Given the description of an element on the screen output the (x, y) to click on. 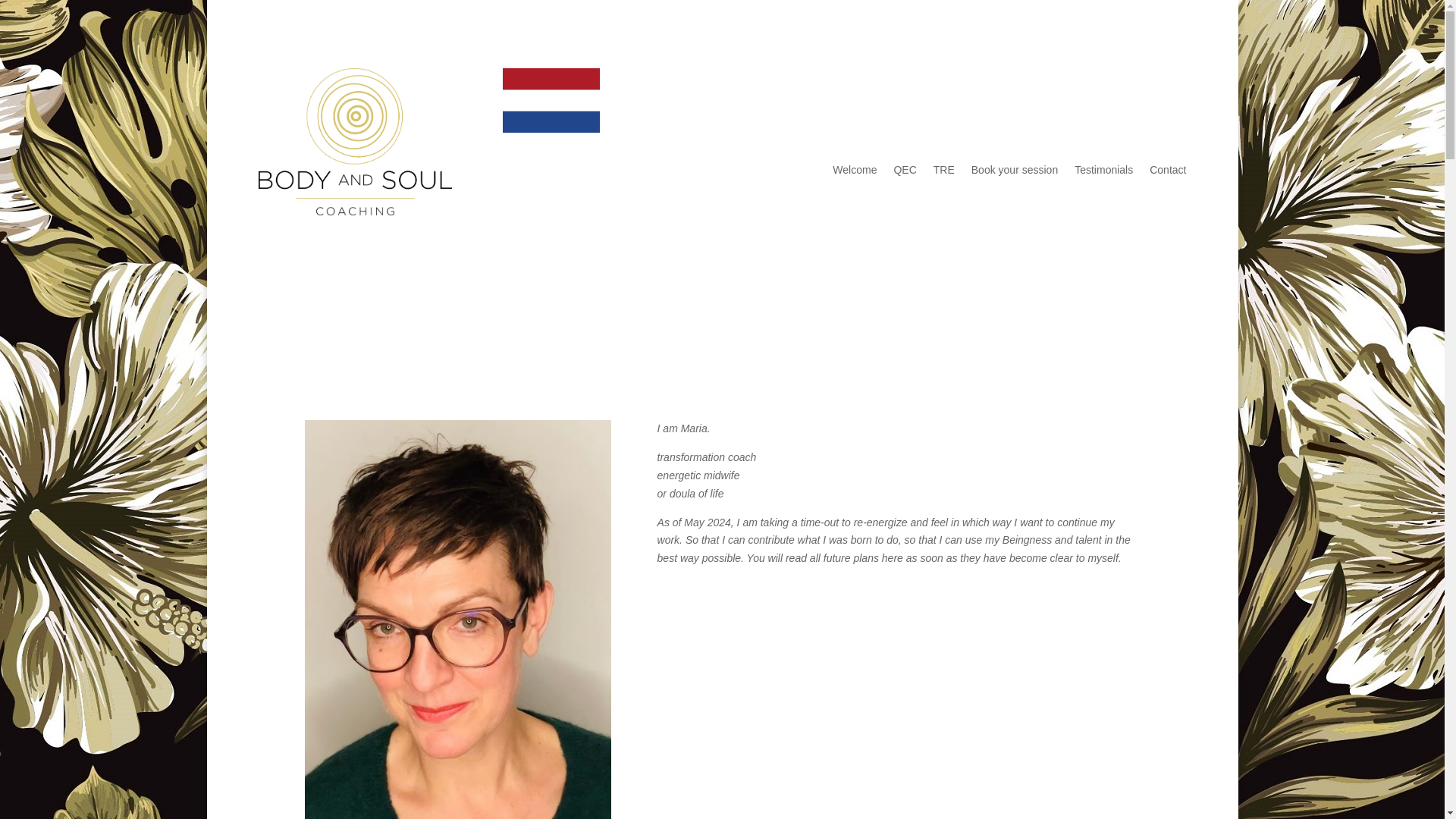
Welcome (854, 172)
Book your session (1014, 172)
LOGObodyandsoul (354, 141)
TRE (944, 172)
Contact (1168, 172)
Testimonials (1103, 172)
QEC (904, 172)
netherlands-flag-icon-128 (550, 99)
